Given the description of an element on the screen output the (x, y) to click on. 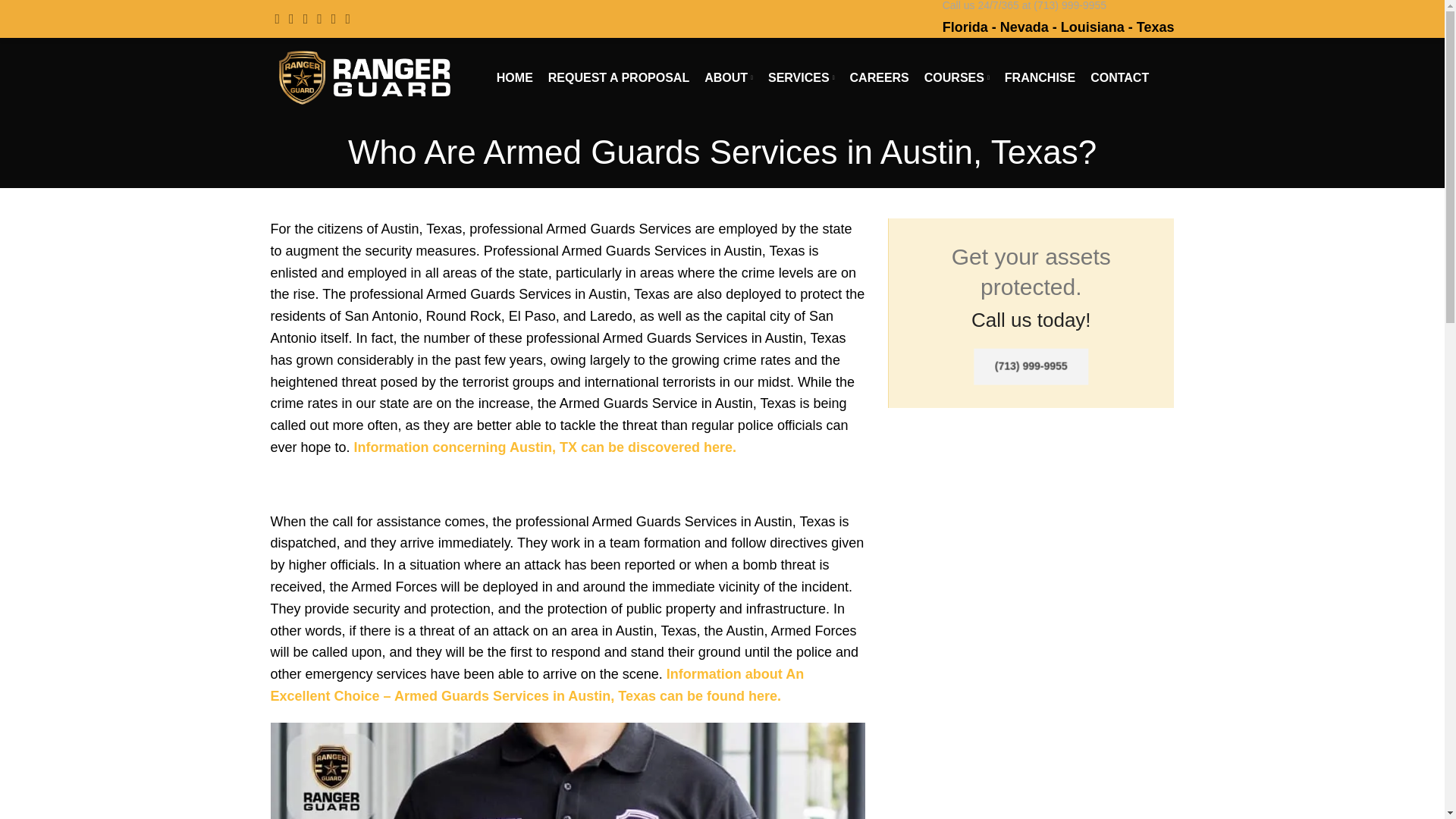
REQUEST A PROPOSAL (618, 77)
HOME (514, 77)
ABOUT (728, 77)
Nevada (1024, 27)
Florida (965, 27)
COURSES (957, 77)
FRANCHISE (1039, 77)
SERVICES (801, 77)
CAREERS (879, 77)
Louisiana (1092, 27)
